Given the description of an element on the screen output the (x, y) to click on. 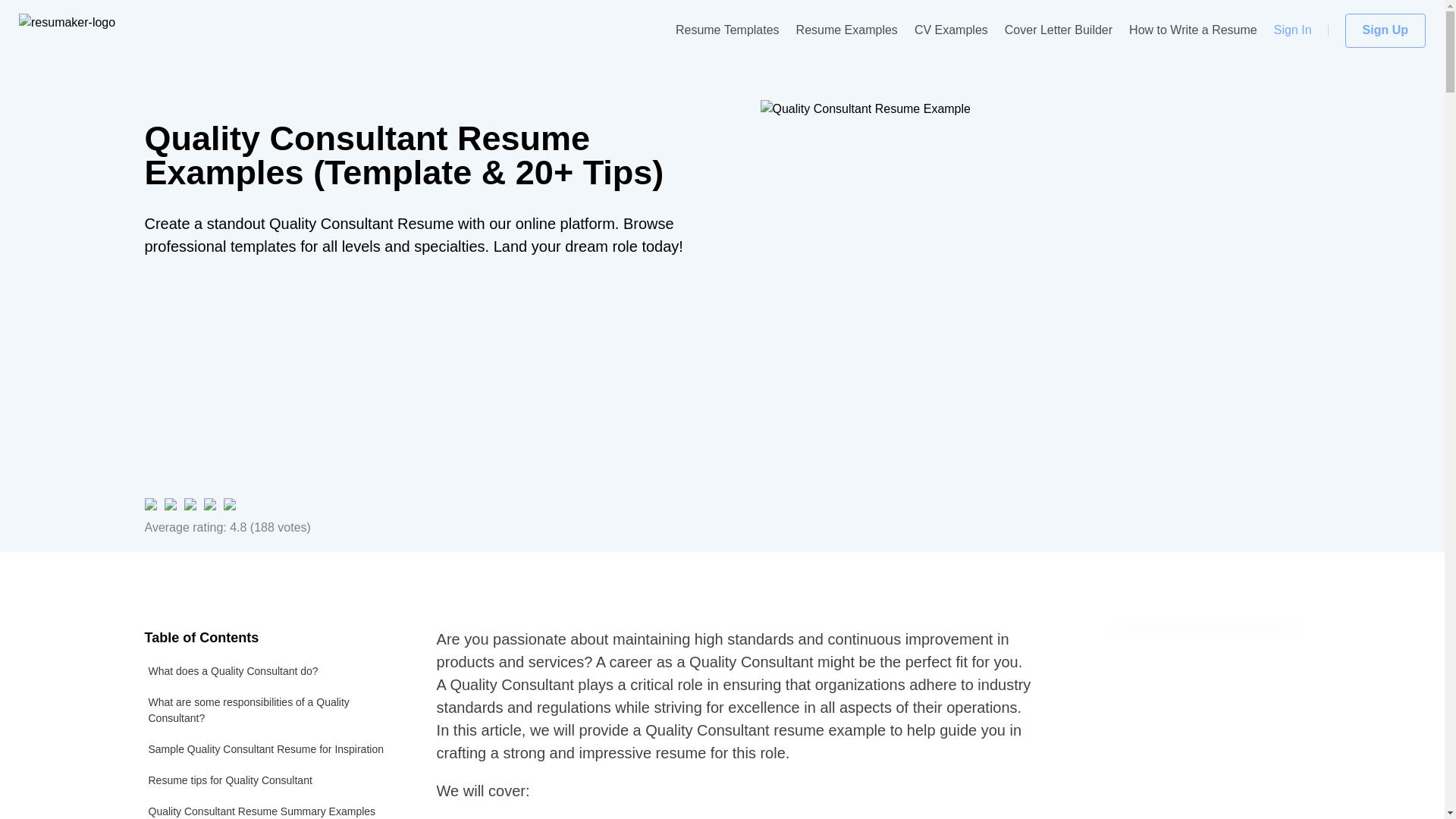
How to Write a Resume (1193, 30)
What are some responsibilities of a Quality Consultant? (270, 710)
Sample Quality Consultant Resume for Inspiration (270, 748)
Resume Templates (726, 30)
Cover Letter Builder (1058, 30)
Resume tips for Quality Consultant (270, 780)
CV Examples (951, 30)
Quality Consultant Resume Summary Examples (270, 807)
What does a Quality Consultant do? (270, 671)
Resume Examples (847, 30)
